Given the description of an element on the screen output the (x, y) to click on. 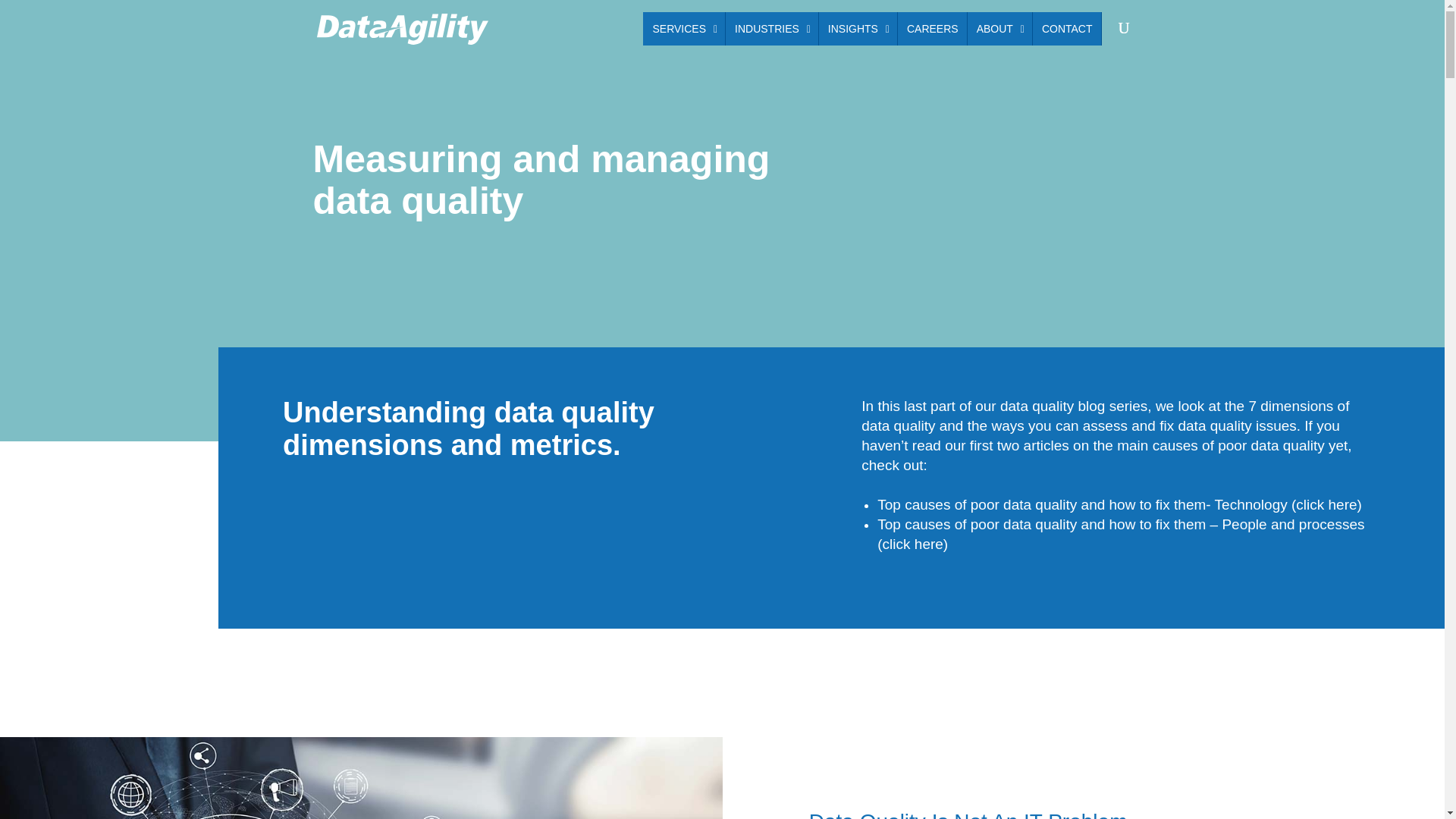
How to build a data platform - FB (361, 778)
SERVICES (684, 28)
CONTACT (871, 28)
CAREERS (1066, 28)
INSIGHTS (932, 28)
ABOUT (857, 28)
INDUSTRIES (1000, 28)
